Given the description of an element on the screen output the (x, y) to click on. 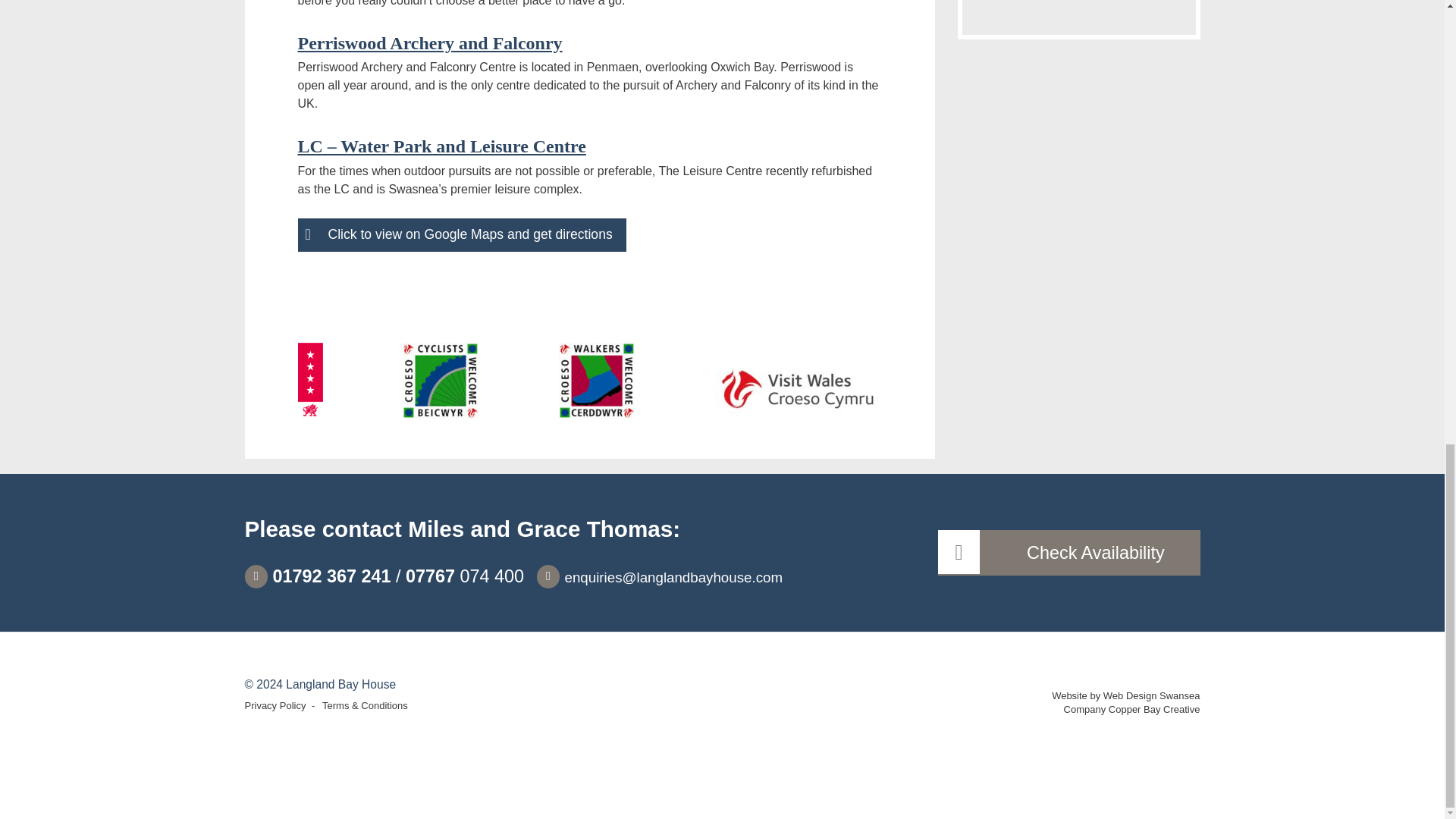
Privacy Policy (278, 705)
01792 367 241 (317, 576)
Web Design Swansea (1151, 695)
Copper Bay Creative (1153, 708)
Perriswood Archery and Falconry (429, 43)
Check Availability (1068, 552)
The LC2 Swansea (441, 146)
Click to view on Google Maps and get directions (461, 234)
07767 074 400 (465, 576)
Perriswood Archery and Flaconry (429, 43)
